Given the description of an element on the screen output the (x, y) to click on. 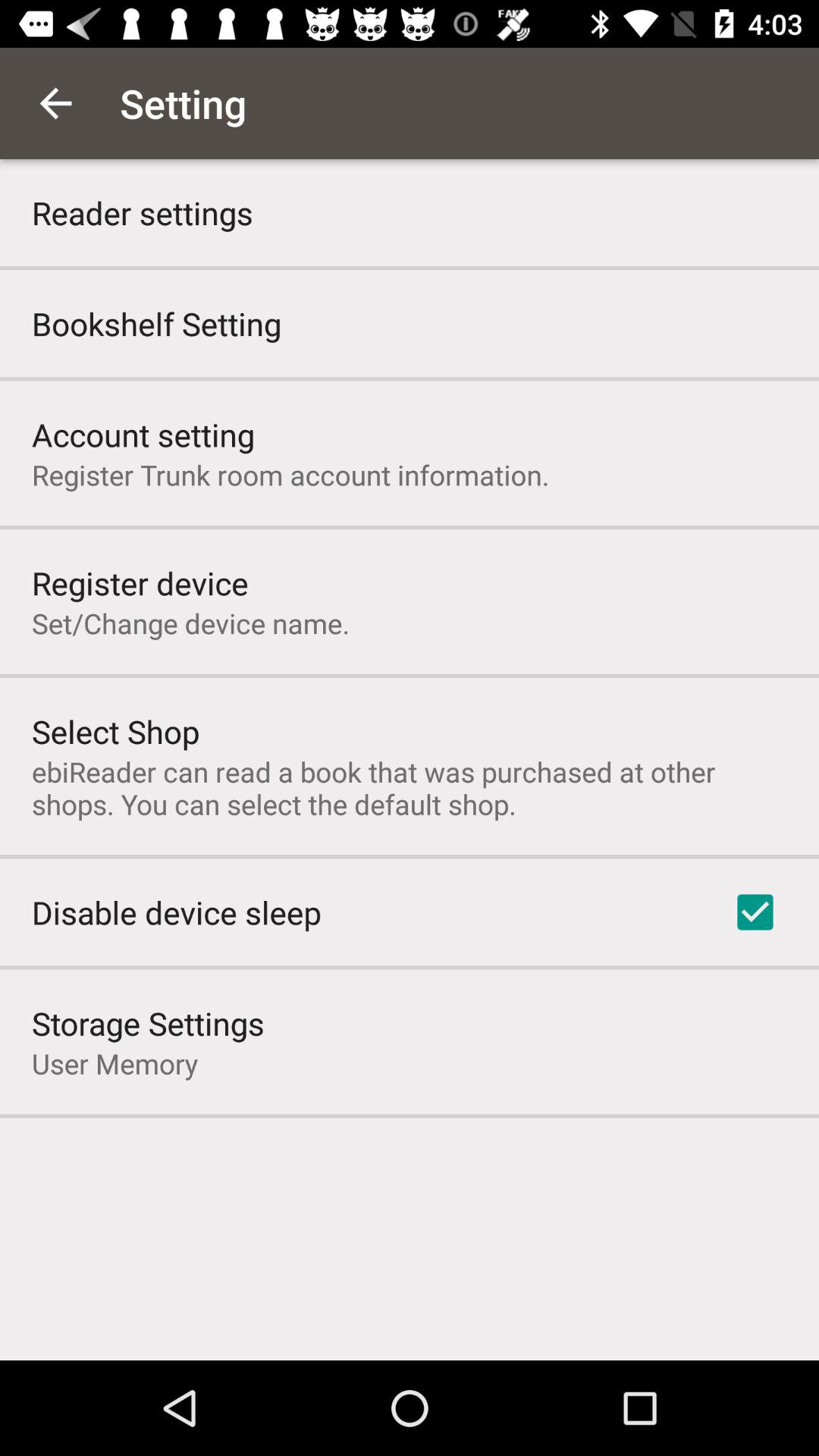
click the set change device icon (190, 623)
